Given the description of an element on the screen output the (x, y) to click on. 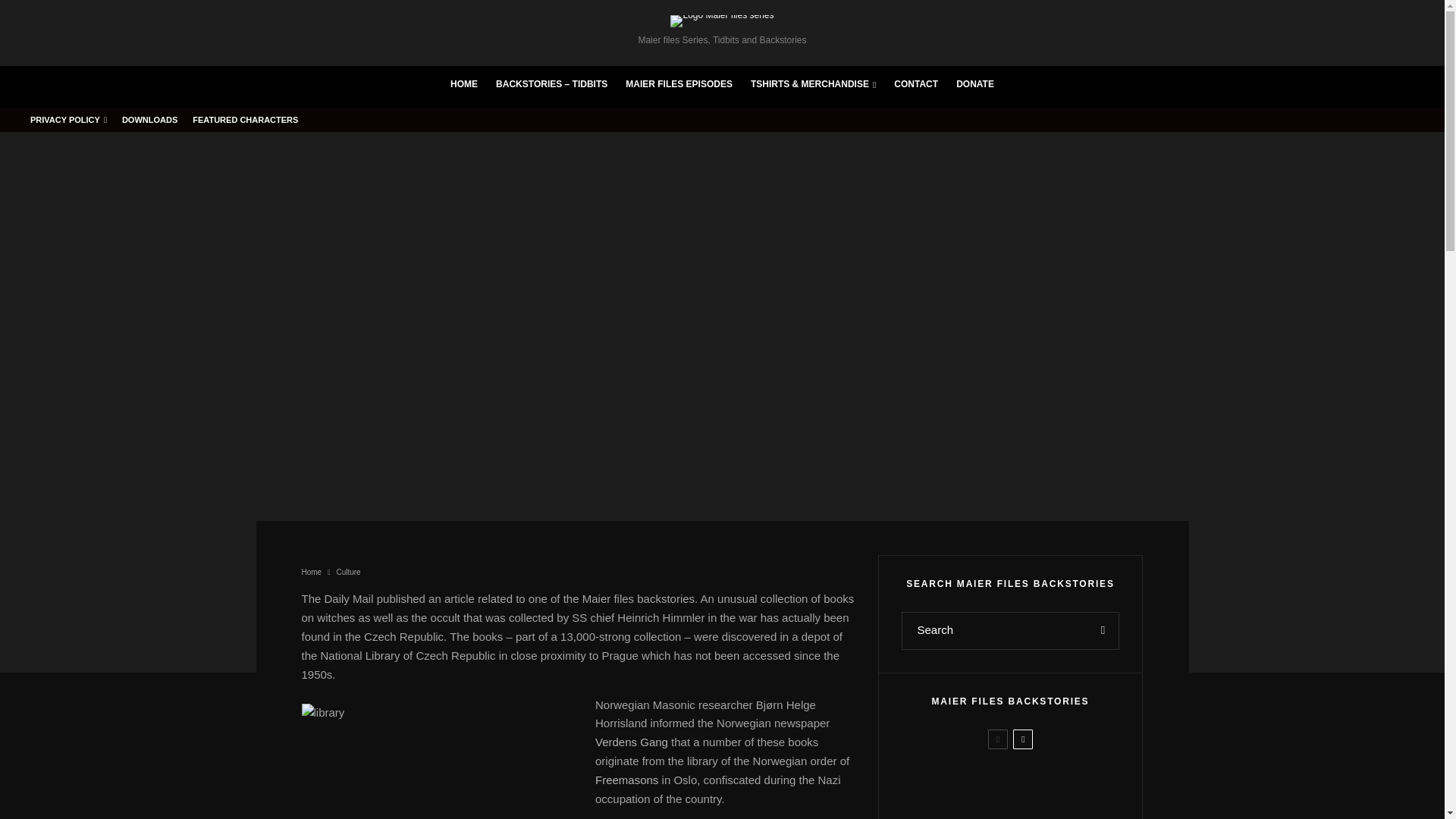
HOME (463, 86)
PRIVACY POLICY (69, 119)
FEATURED CHARACTERS (244, 119)
Verdens Gang (631, 741)
Culture (347, 572)
Maier files Series, Tidbits and Backstories (721, 30)
DOWNLOADS (149, 119)
Home (311, 572)
DONATE (975, 86)
MAIER FILES EPISODES (678, 86)
